Given the description of an element on the screen output the (x, y) to click on. 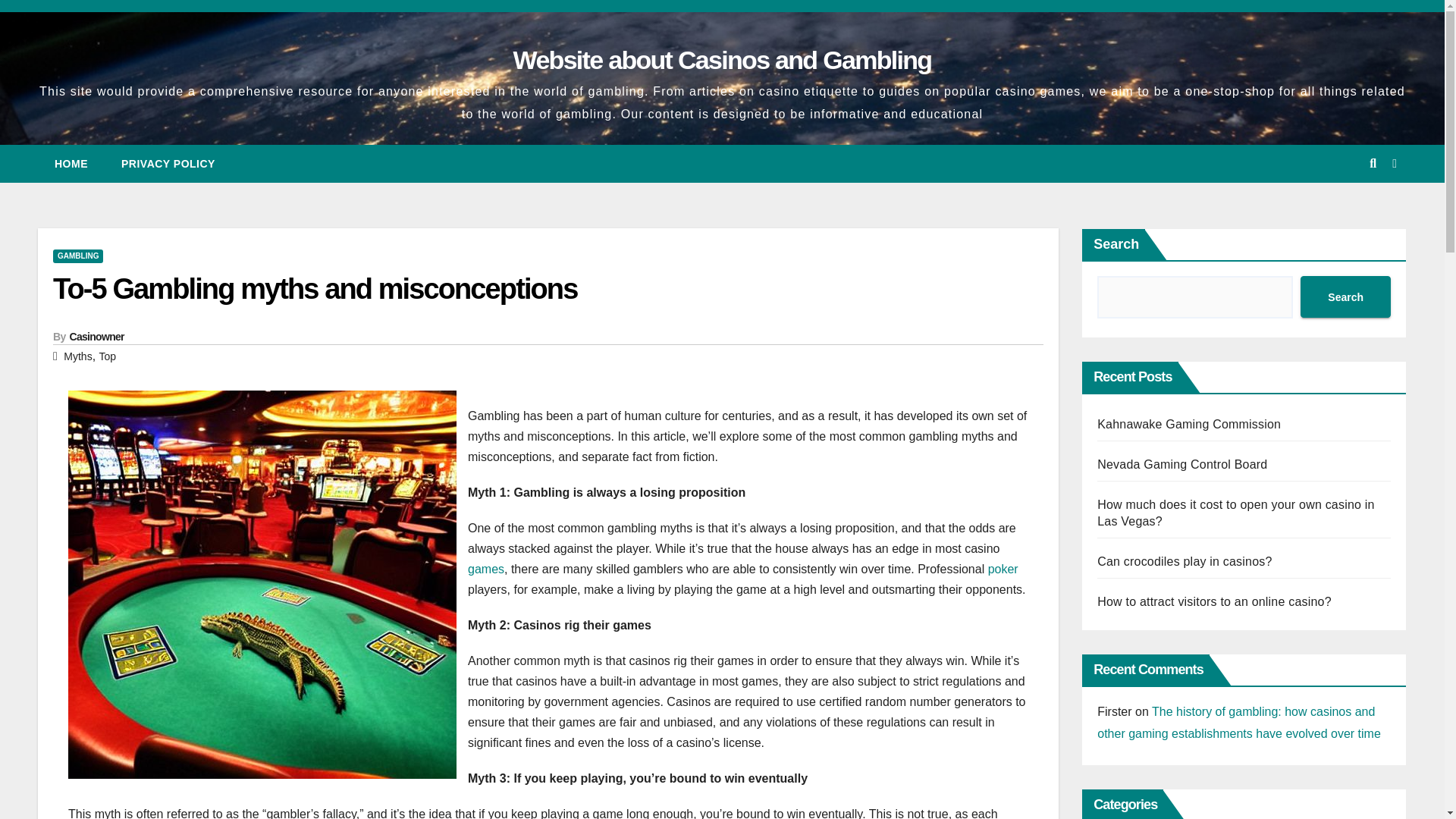
games (485, 568)
HOME (70, 163)
Nevada Gaming Control Board (1181, 463)
poker (1002, 568)
Top (107, 356)
To-5 Gambling myths and misconceptions (314, 288)
Casinowner (96, 336)
Website about Casinos and Gambling (722, 59)
Kahnawake Gaming Commission (1189, 423)
GAMBLING (77, 255)
PRIVACY POLICY (167, 163)
Can crocodiles play in casinos? (1184, 561)
Myths (77, 356)
Home (70, 163)
Search (1345, 296)
